Given the description of an element on the screen output the (x, y) to click on. 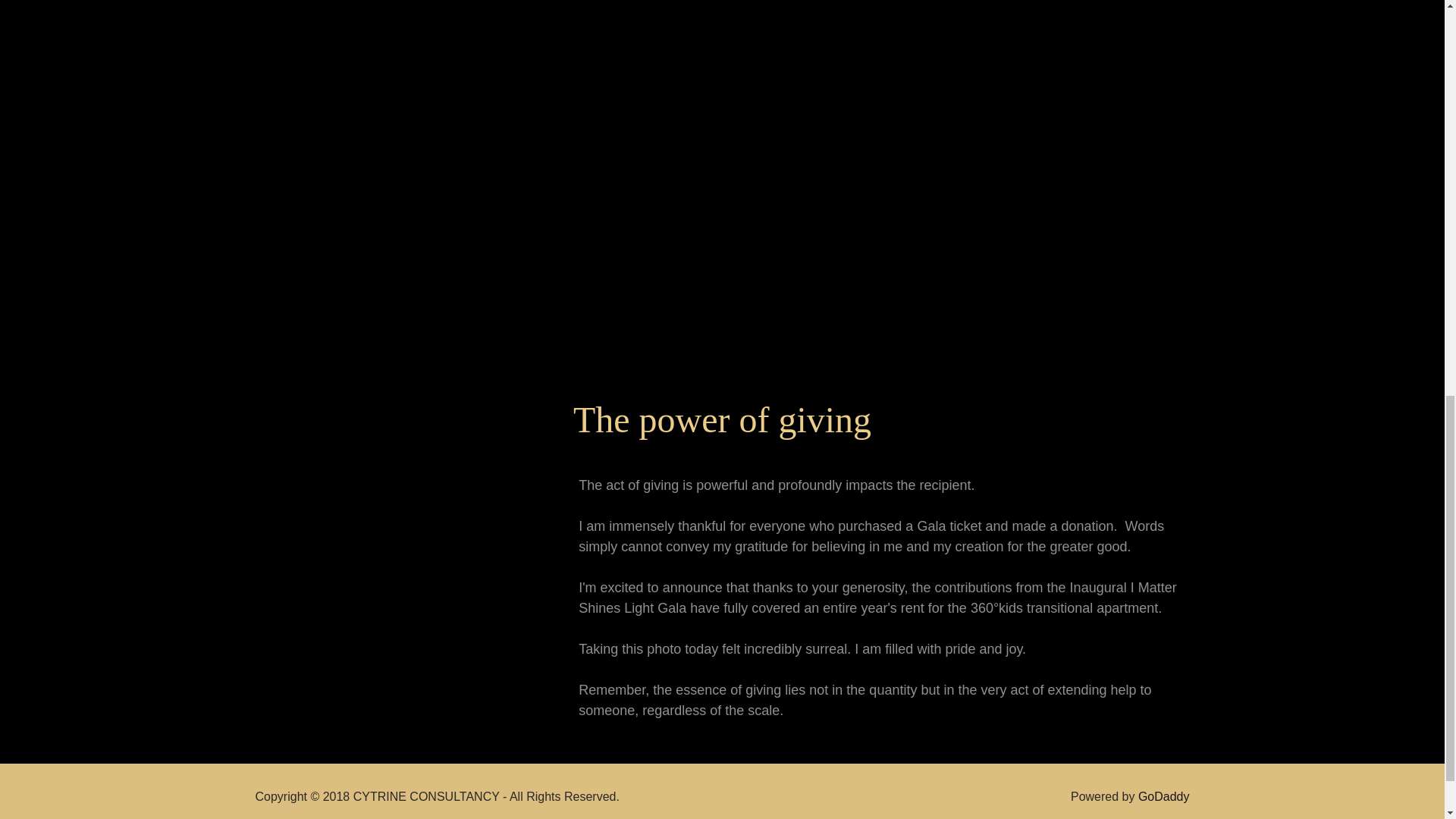
GoDaddy (1163, 796)
